Given the description of an element on the screen output the (x, y) to click on. 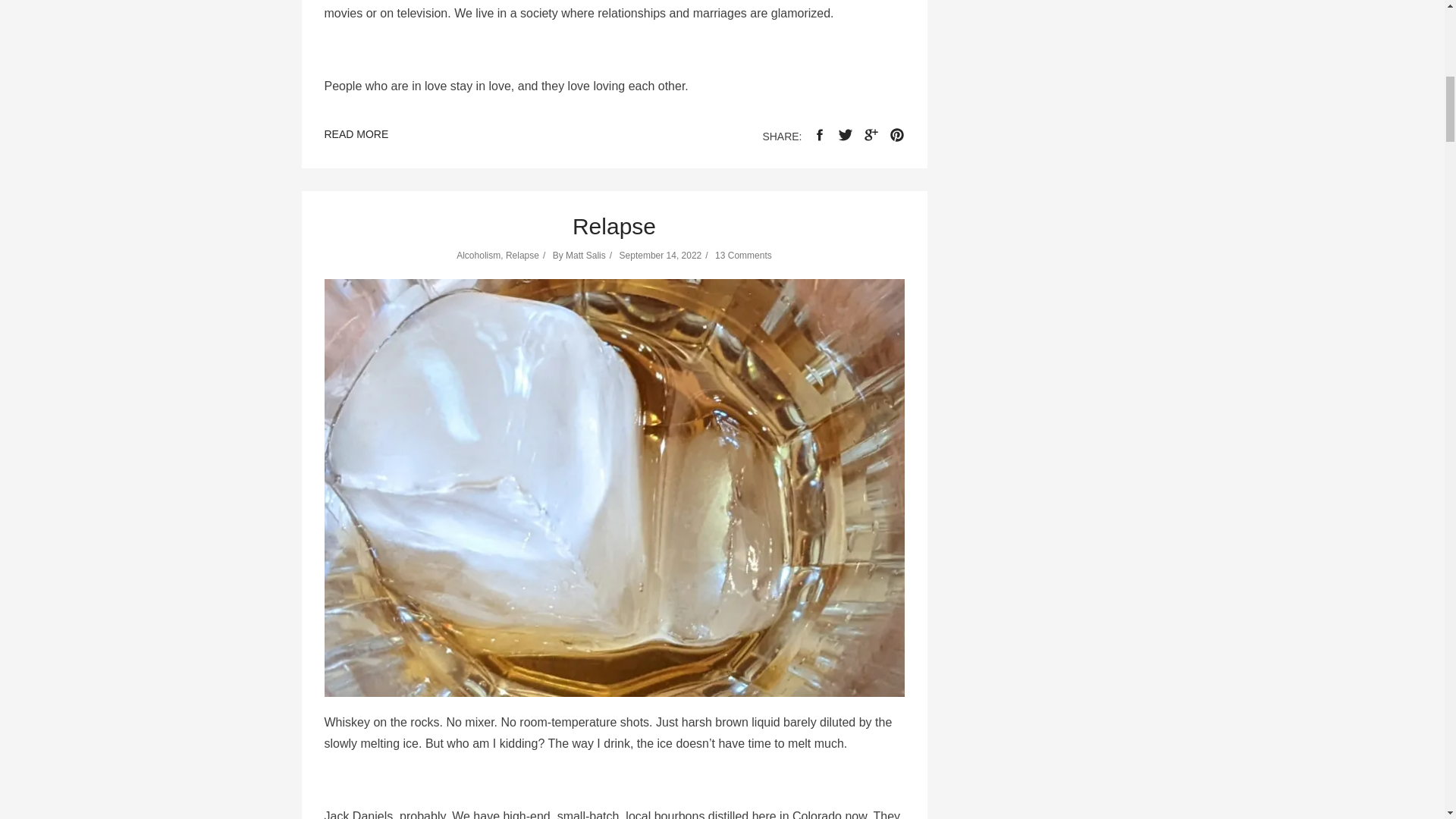
Relapse (614, 226)
Alcoholism (478, 255)
READ MORE (356, 136)
Matt Salis (585, 255)
Relapse (521, 255)
